Given the description of an element on the screen output the (x, y) to click on. 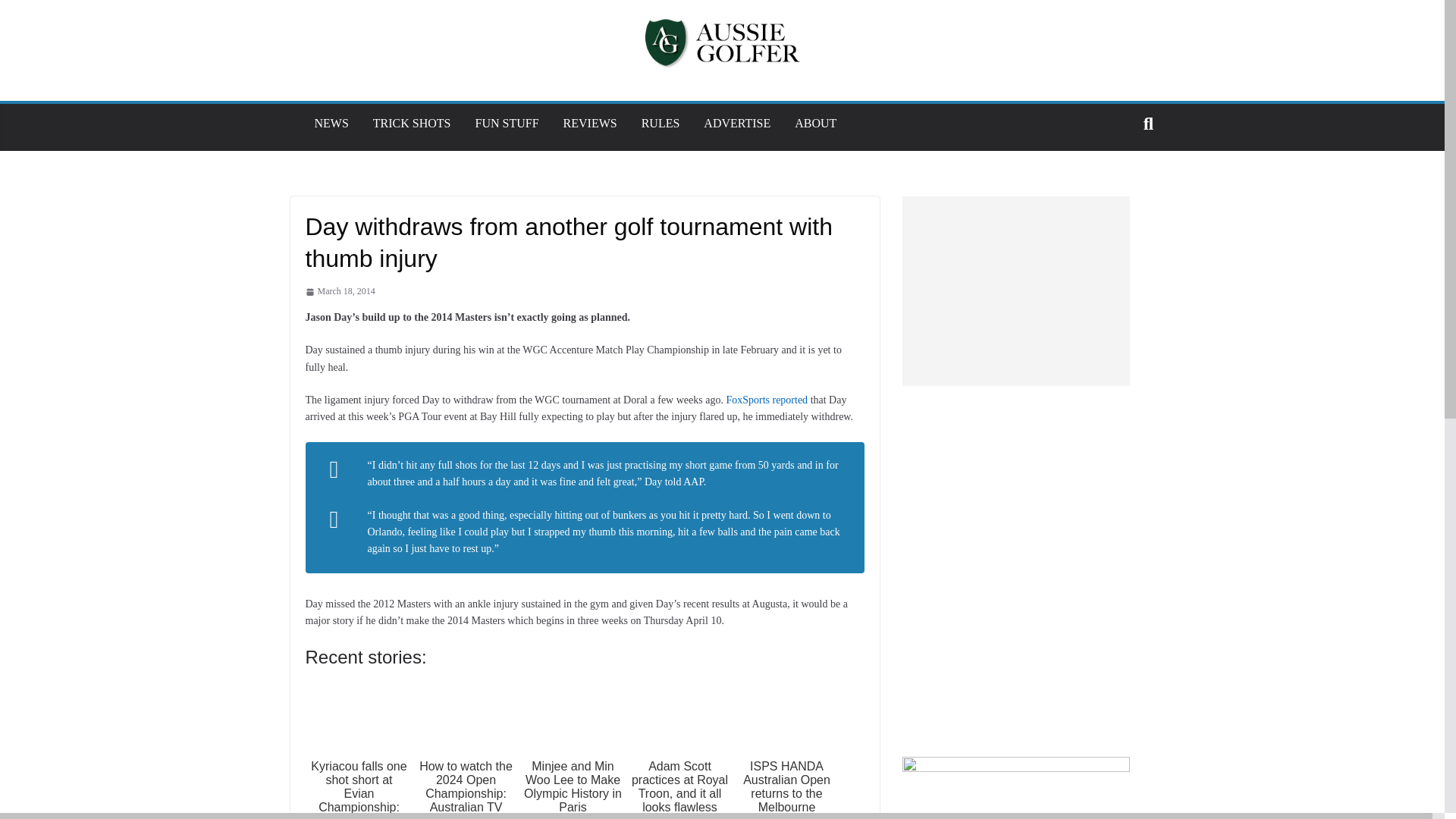
FoxSports reported (766, 399)
NEWS (330, 123)
FUN STUFF (507, 123)
ABOUT (814, 123)
RULES (660, 123)
REVIEWS (590, 123)
March 18, 2014 (339, 291)
ADVERTISE (736, 123)
12:01 (339, 291)
TRICK SHOTS (411, 123)
